Given the description of an element on the screen output the (x, y) to click on. 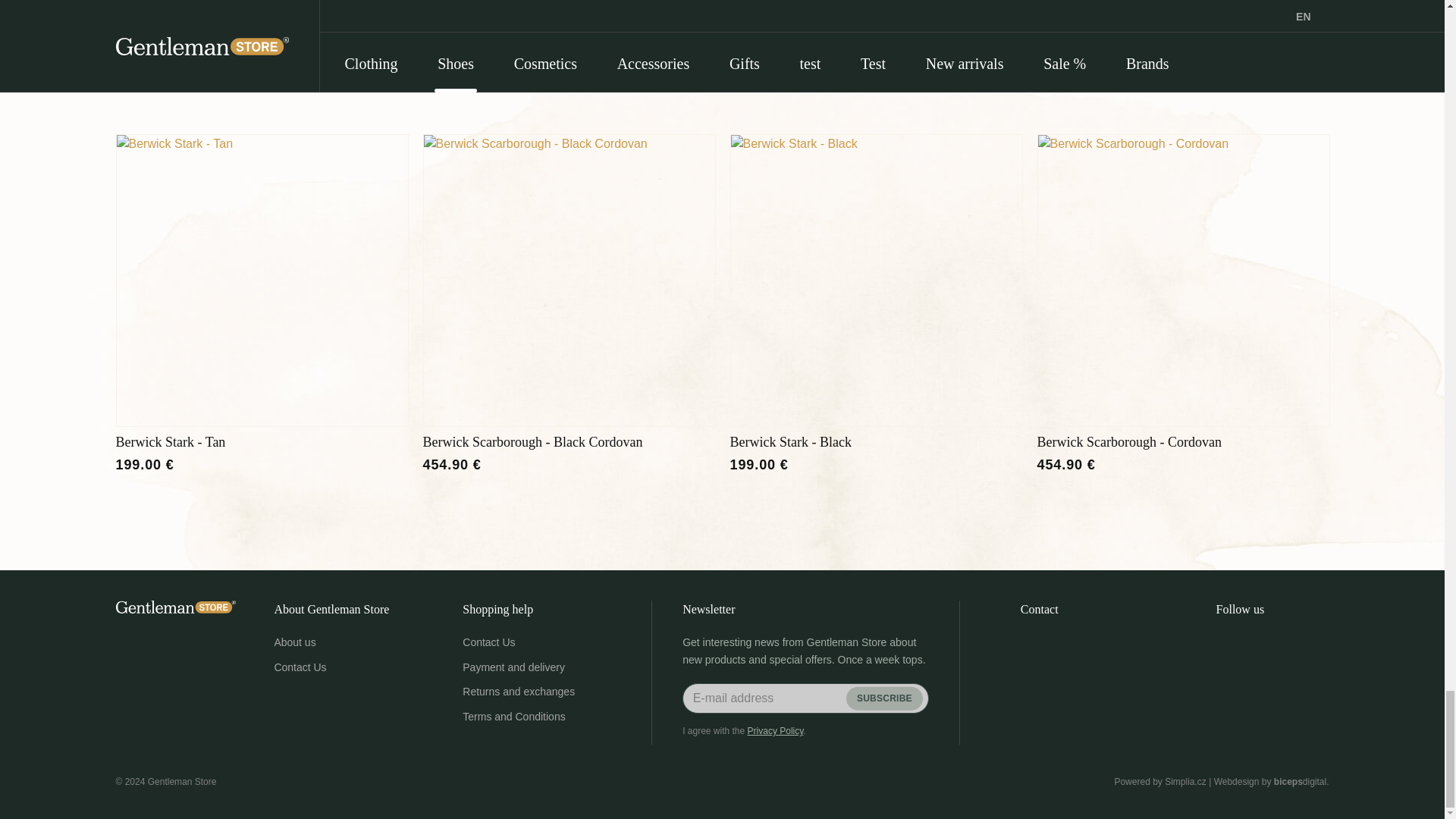
Detail Berwick Stark - Tan (261, 280)
Detail Berwick Scarborough - Black Cordovan (569, 280)
Detail Berwick Scarborough - Cordovan (1183, 280)
Detail Berwick Stark - Black (875, 280)
